Given the description of an element on the screen output the (x, y) to click on. 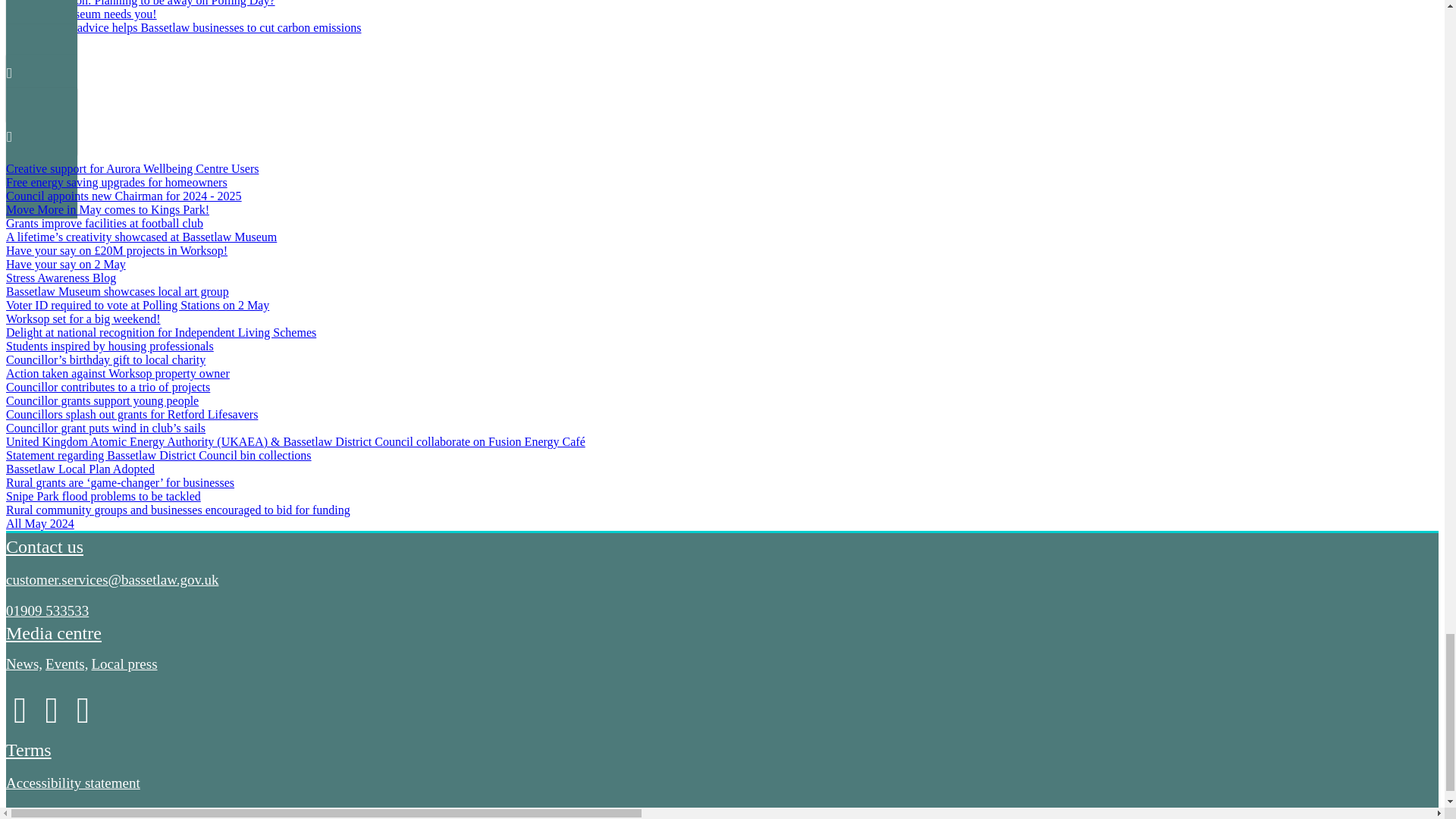
General Election: Planning to be away on Polling Day? (140, 3)
Facebook (21, 717)
Creative support for Aurora Wellbeing Centre Users (132, 168)
Grants improve facilities at football club (104, 223)
YouTube (53, 717)
All June 2024 (39, 104)
Move More in May comes to Kings Park! (107, 209)
Free energy saving upgrades for homeowners (116, 182)
Bassetlaw Museum needs you! (81, 13)
All July 2024 (38, 41)
Twitter (82, 717)
Council appoints new Chairman for 2024 - 2025 (123, 195)
